Given the description of an element on the screen output the (x, y) to click on. 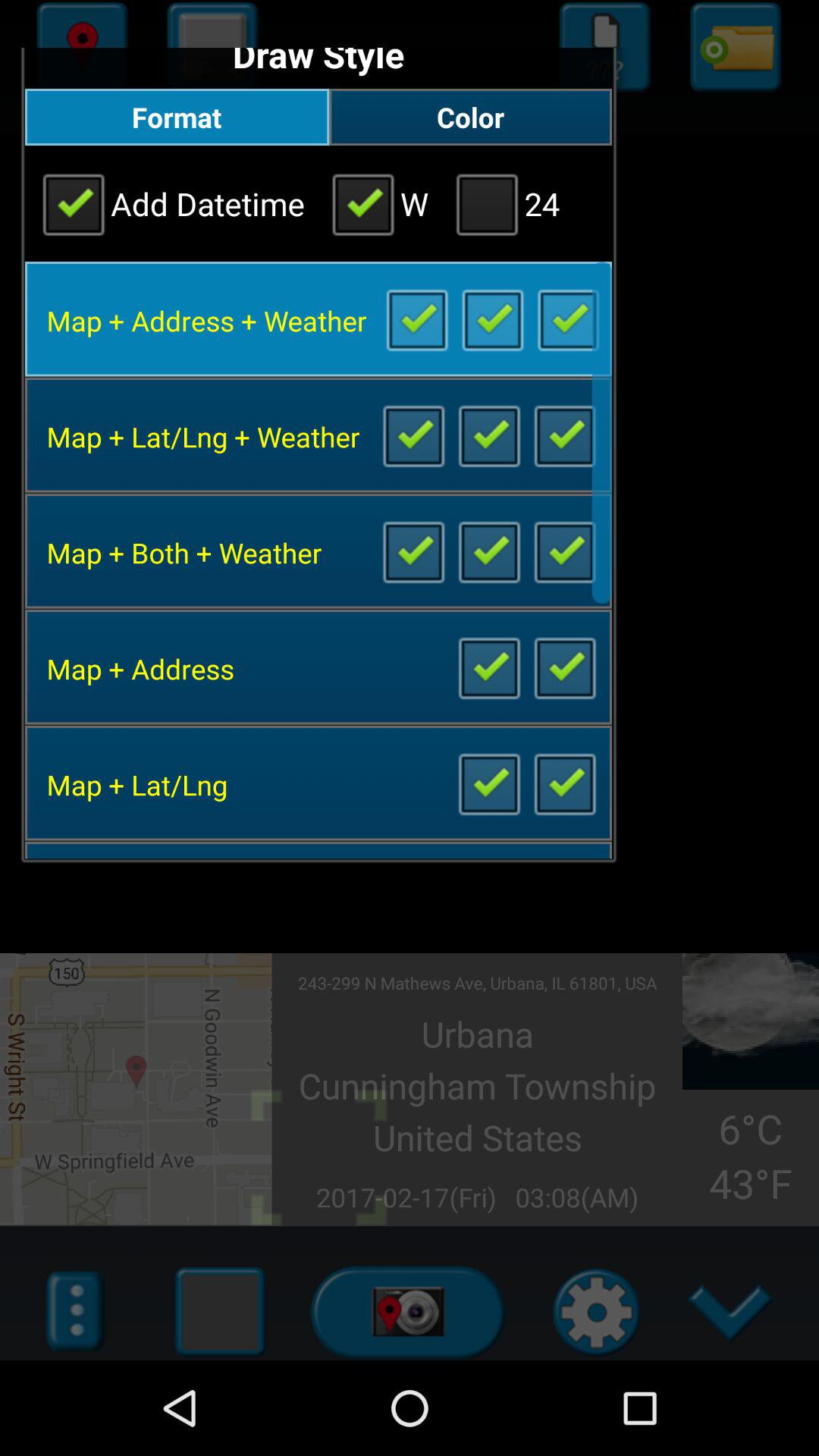
select for activate (488, 550)
